Given the description of an element on the screen output the (x, y) to click on. 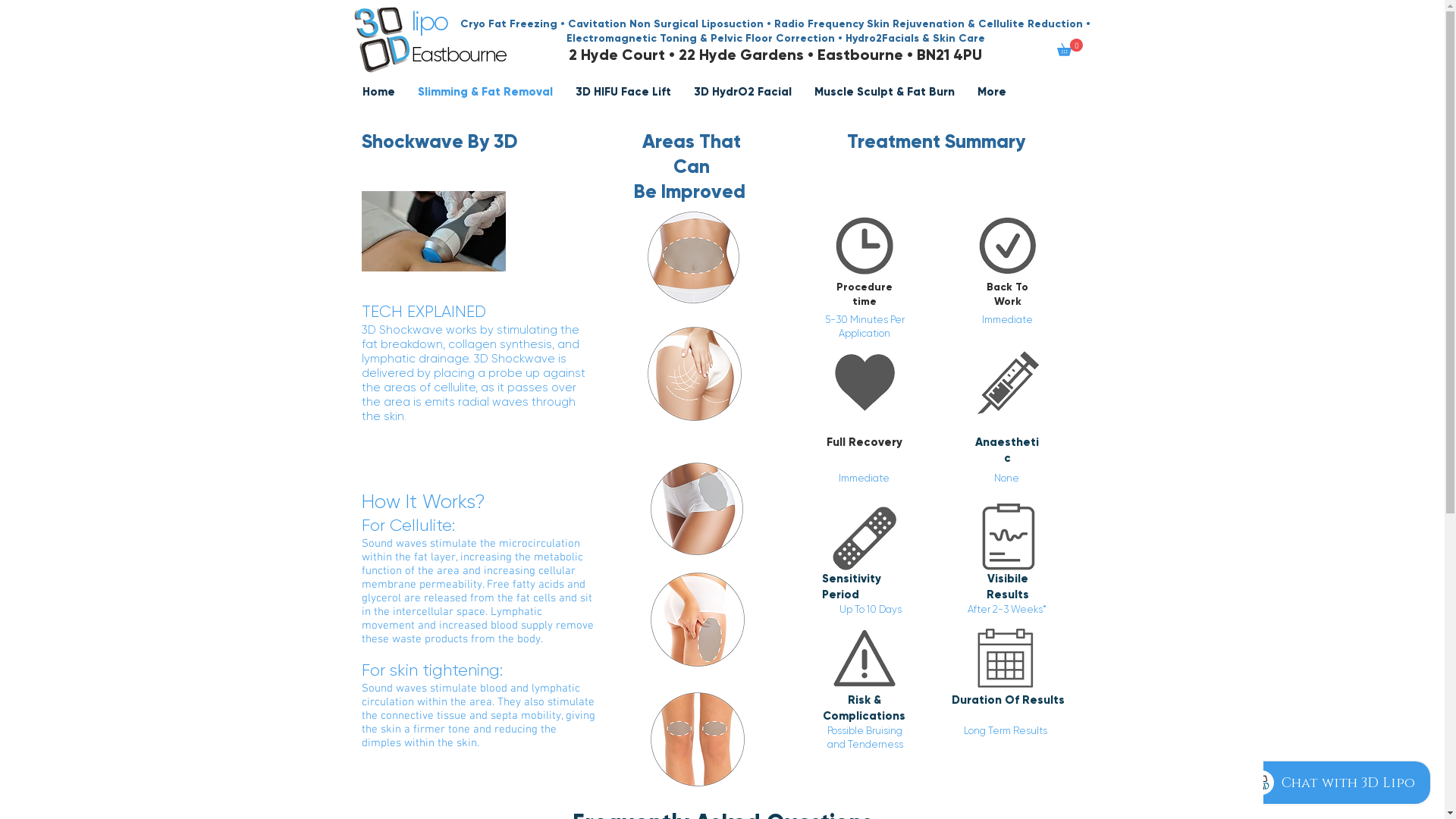
3D HIFU Face Lift Element type: text (623, 91)
3D HydrO2 Facial Element type: text (742, 91)
Home Element type: text (377, 91)
Muscle Sculpt & Fat Burn Element type: text (883, 91)
lipo
Eastbourne Element type: text (459, 39)
0 Element type: text (1069, 47)
Slimming & Fat Removal Element type: text (485, 91)
